Given the description of an element on the screen output the (x, y) to click on. 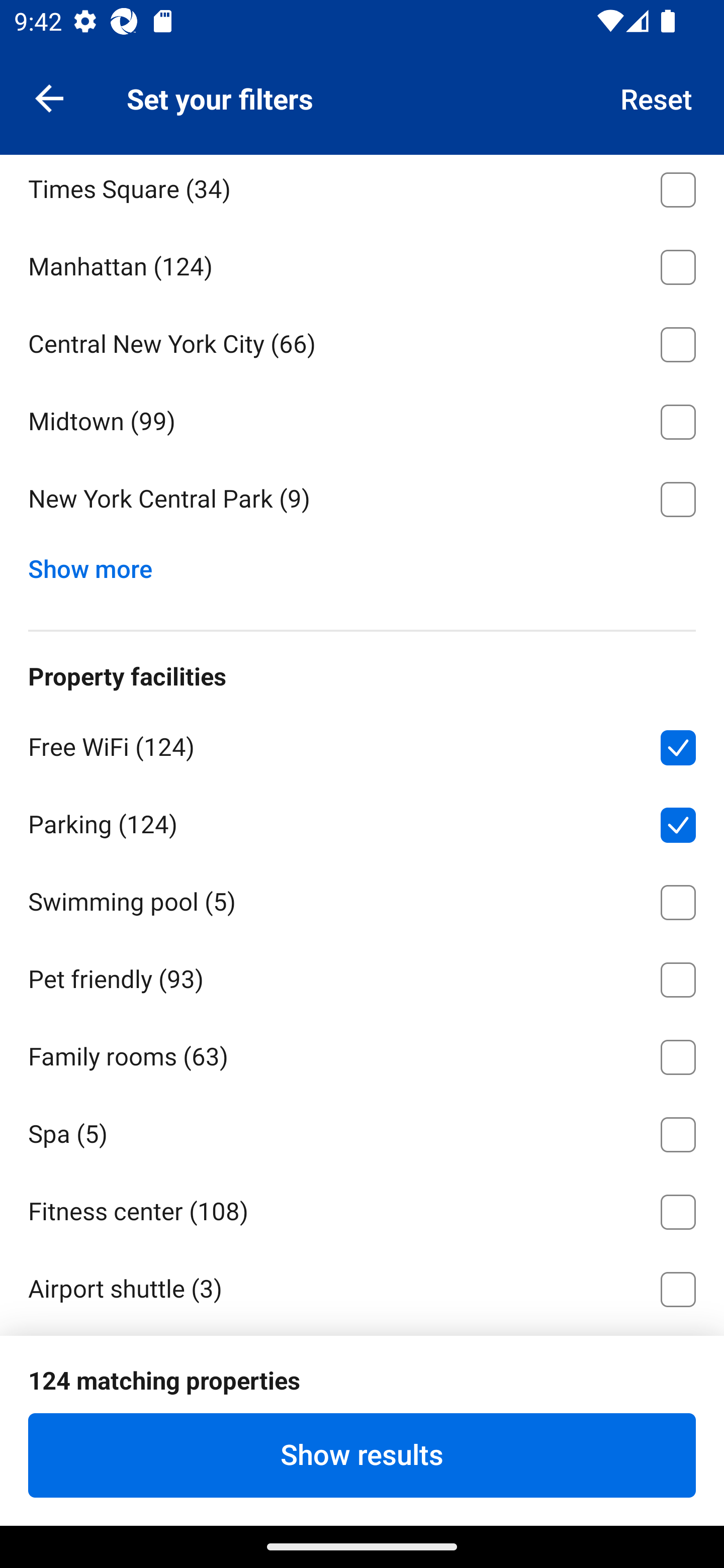
Navigate up (49, 97)
Reset (656, 97)
Times Square ⁦(34) (361, 190)
Manhattan ⁦(124) (361, 263)
Central New York City ⁦(66) (361, 340)
Midtown ⁦(99) (361, 418)
New York Central Park ⁦(9) (361, 499)
Show more (97, 565)
Free WiFi ⁦(124) (361, 743)
Parking ⁦(124) (361, 821)
Swimming pool ⁦(5) (361, 898)
Pet friendly ⁦(93) (361, 975)
Family rooms ⁦(63) (361, 1053)
Spa ⁦(5) (361, 1130)
Fitness center ⁦(108) (361, 1208)
Airport shuttle ⁦(3) (361, 1286)
Show results (361, 1454)
